Given the description of an element on the screen output the (x, y) to click on. 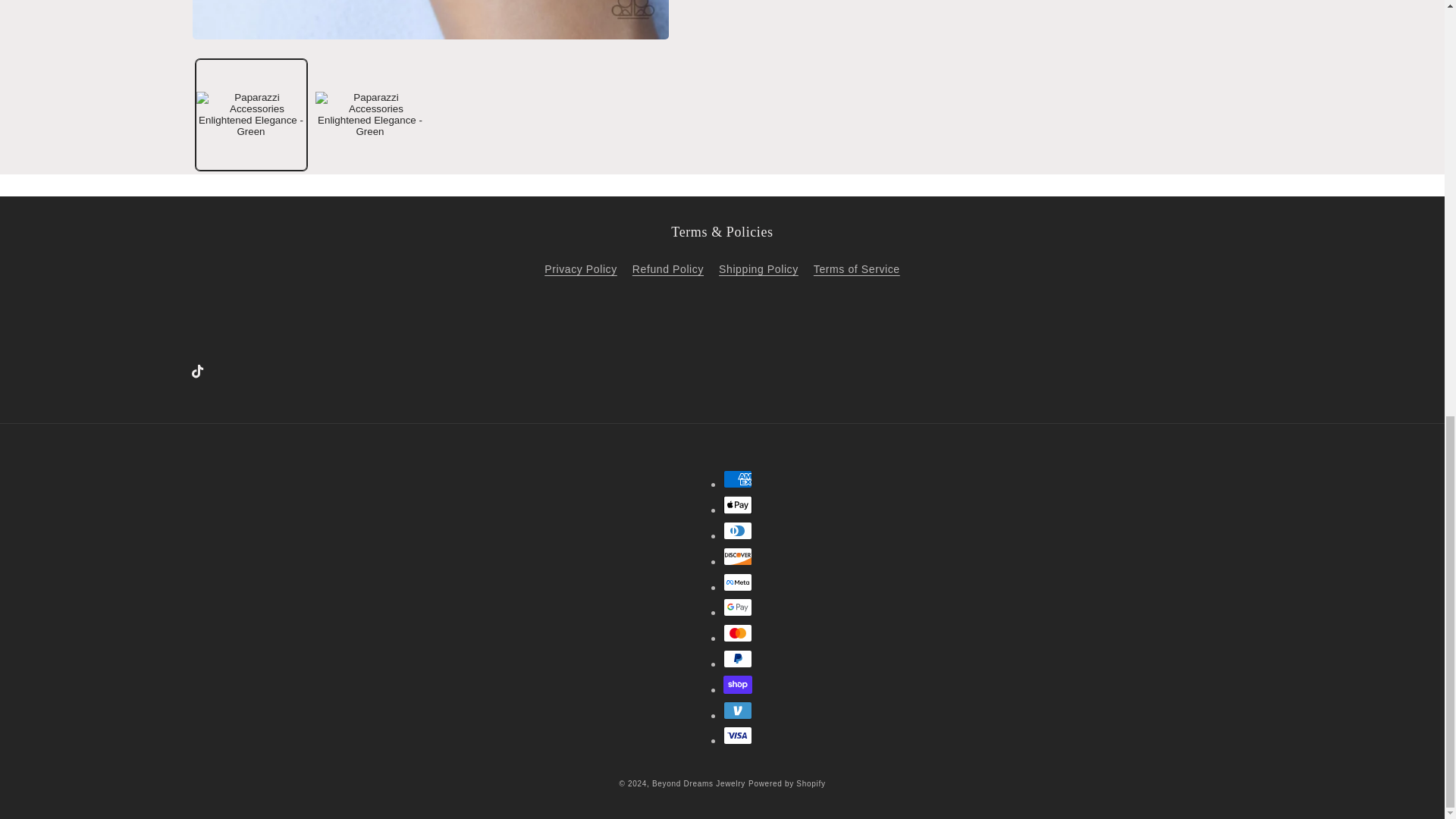
Diners Club (737, 530)
American Express (737, 479)
Apple Pay (737, 505)
